Given the description of an element on the screen output the (x, y) to click on. 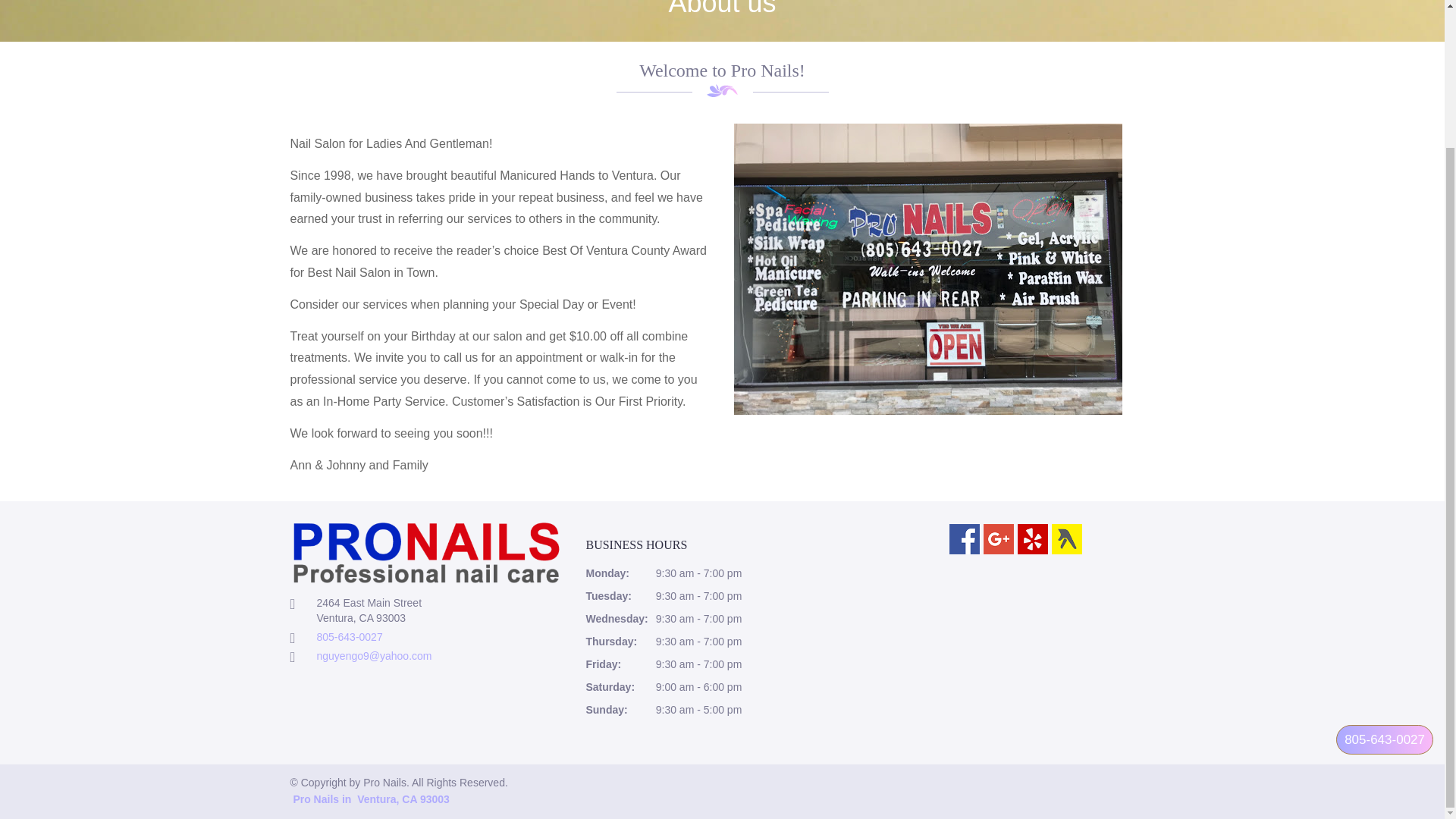
805-643-0027 (1384, 569)
805-643-0027 (349, 636)
Social fanpage (1017, 652)
Call us (1384, 569)
Facebook (964, 539)
Yellowpages (1066, 539)
Yelp (1032, 539)
Google plus (998, 539)
 Pro Nails in  Ventura, CA 93003 (368, 799)
